Given the description of an element on the screen output the (x, y) to click on. 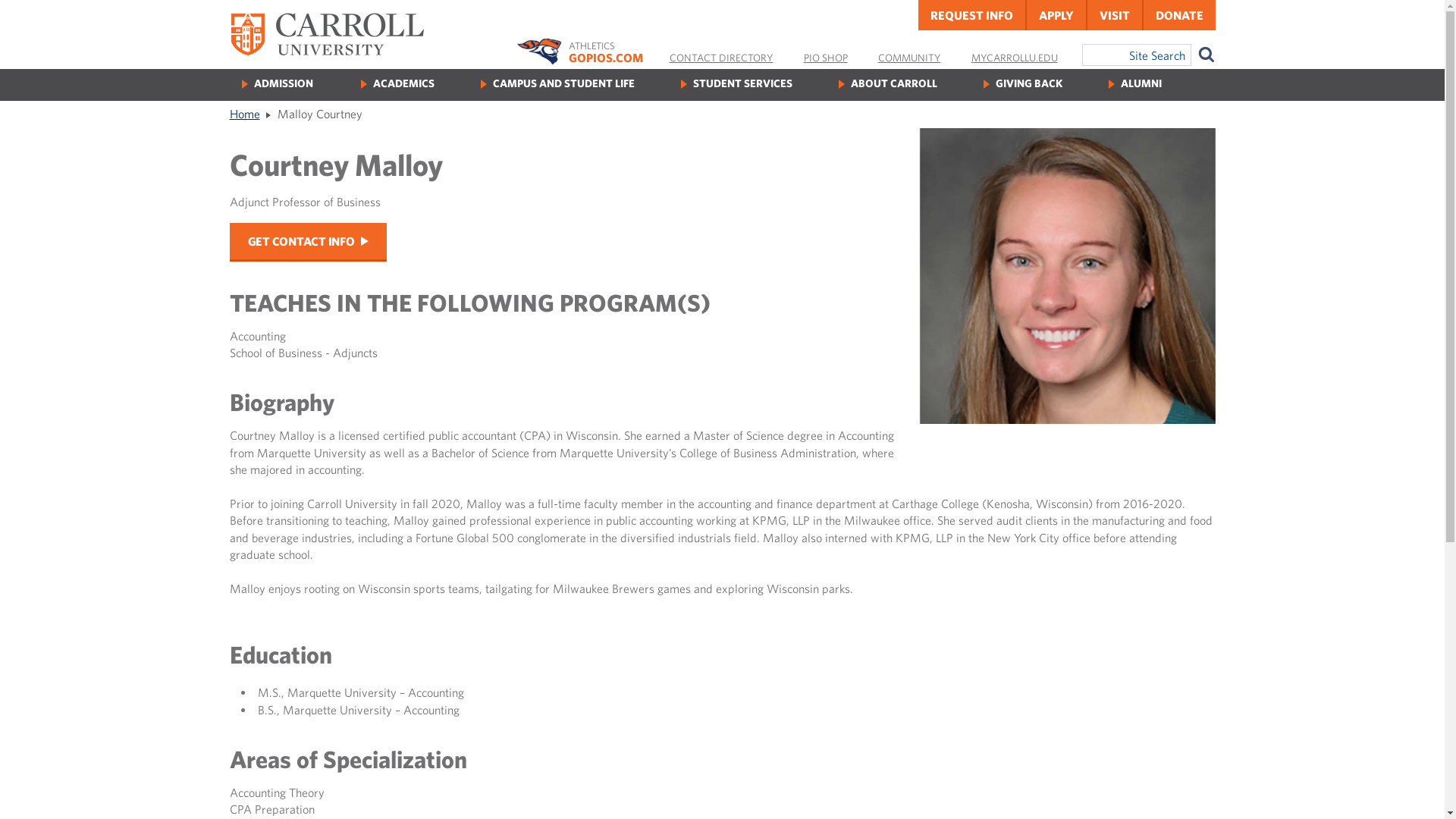
ADMISSION (283, 83)
CAMPUS AND STUDENT LIFE (563, 83)
SKIP TO MAIN CONTENT (31, 43)
ACADEMICS (402, 83)
